Given the description of an element on the screen output the (x, y) to click on. 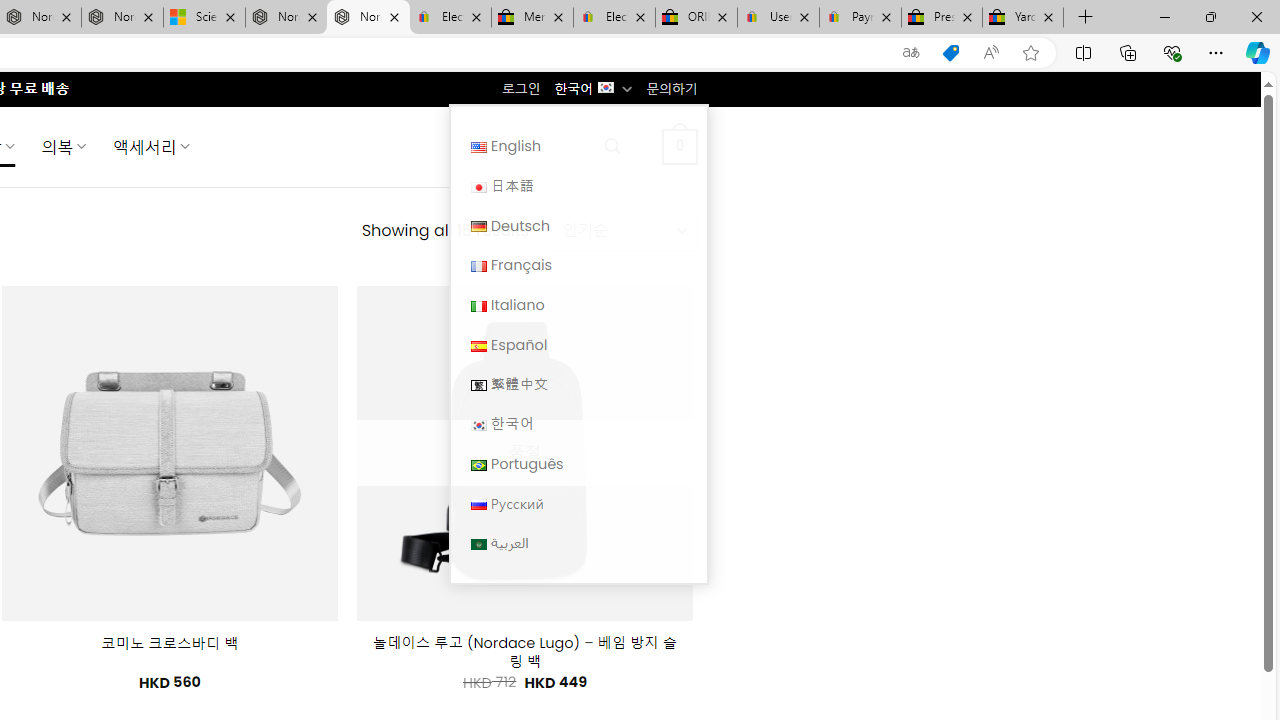
 0  (679, 146)
 Deutsch (578, 225)
English (478, 146)
